Given the description of an element on the screen output the (x, y) to click on. 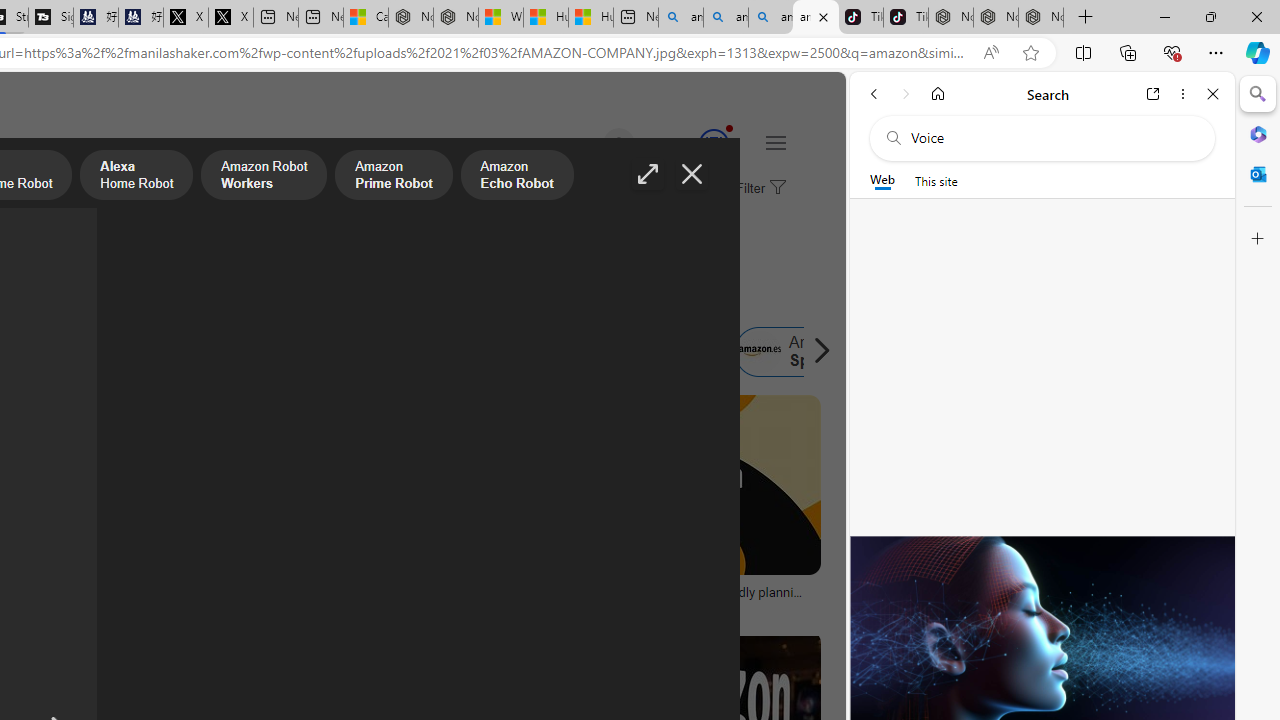
amazon - Search Images (815, 17)
Eugene (590, 143)
theverge.com (599, 605)
Amazon Spain (800, 351)
theverge.com (685, 606)
